Given the description of an element on the screen output the (x, y) to click on. 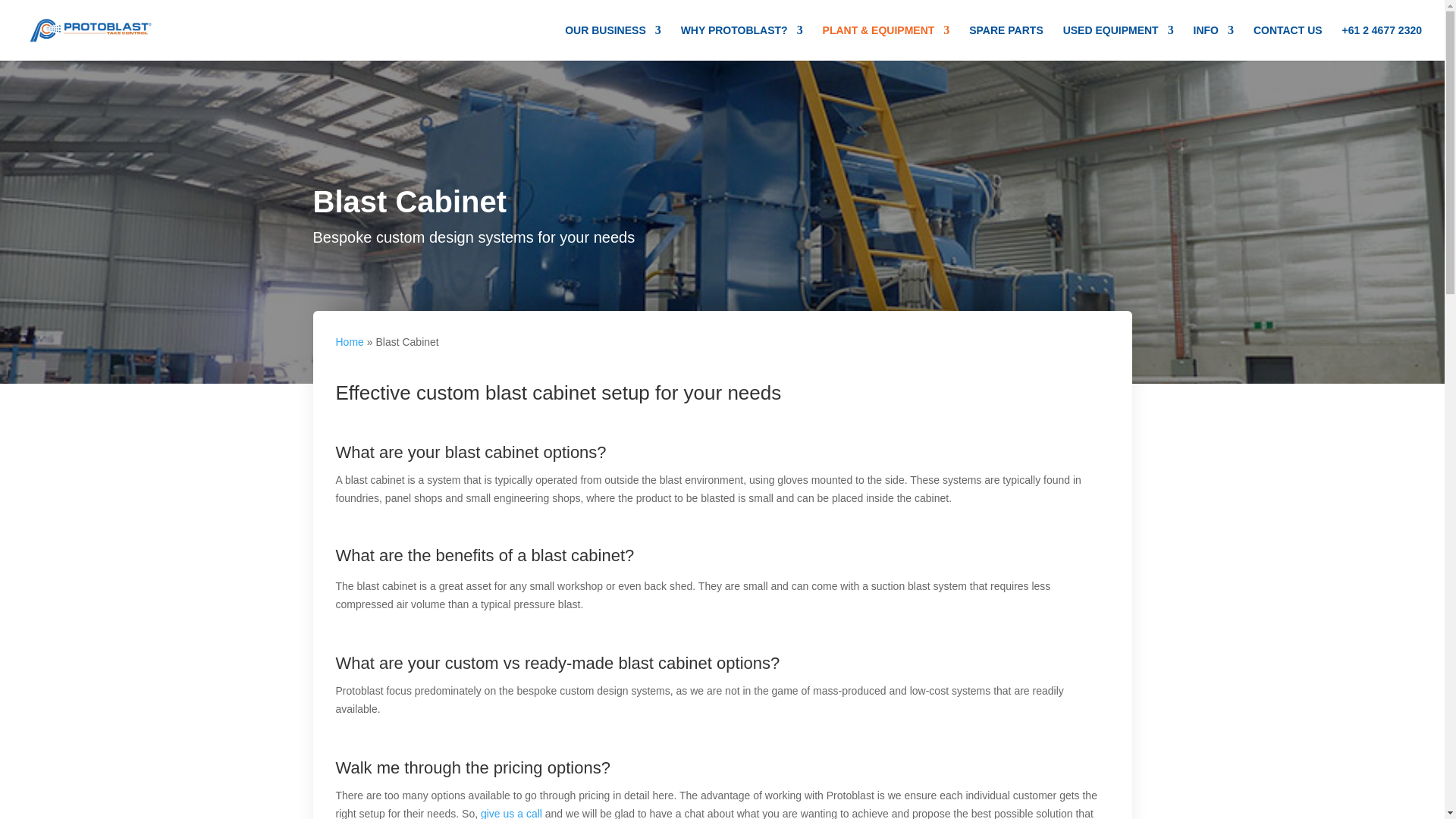
WHY PROTOBLAST? (742, 42)
USED EQUIPMENT (1117, 42)
SPARE PARTS (1006, 42)
OUR BUSINESS (612, 42)
CONTACT US (1287, 42)
INFO (1213, 42)
